Given the description of an element on the screen output the (x, y) to click on. 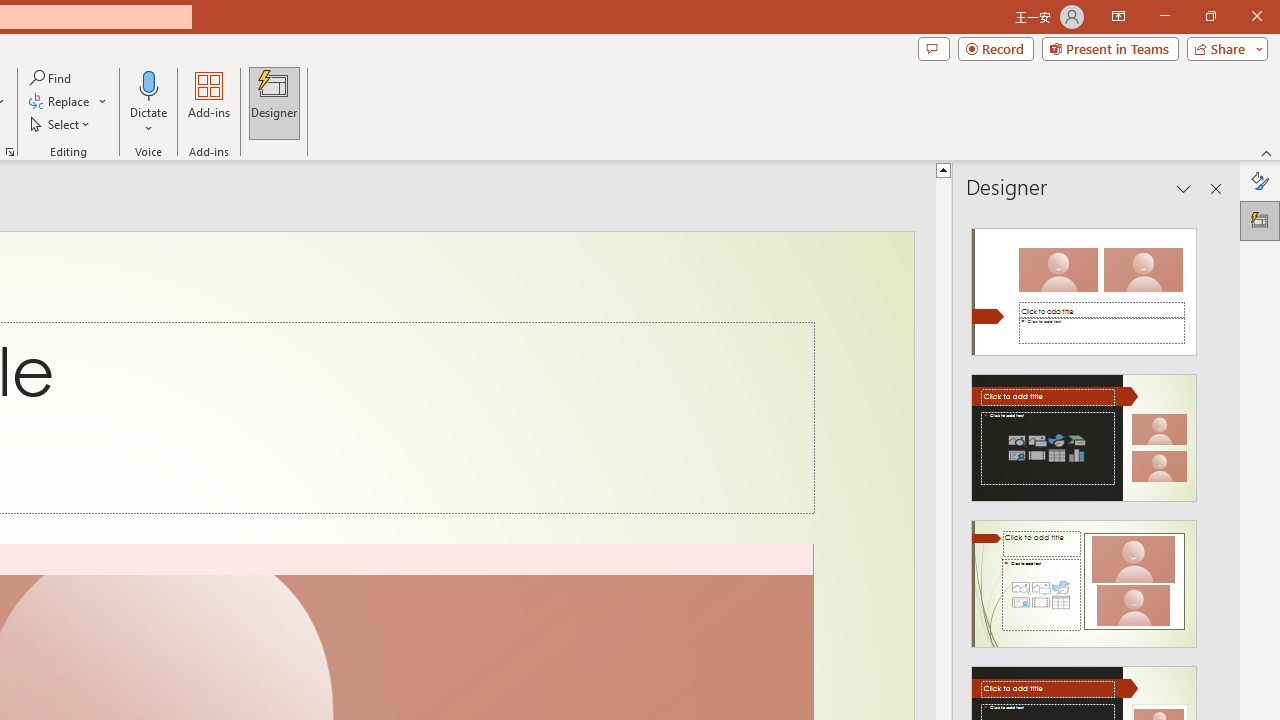
Ribbon Display Options (1118, 16)
Class: NetUIImage (1083, 584)
Dictate (149, 84)
Design Idea (1083, 577)
Task Pane Options (1183, 188)
Format Object... (9, 151)
Replace... (68, 101)
Share (1223, 48)
Format Background (1260, 180)
Collapse the Ribbon (1267, 152)
Line up (943, 169)
Present in Teams (1109, 48)
Restore Down (1210, 16)
More Options (149, 121)
